Given the description of an element on the screen output the (x, y) to click on. 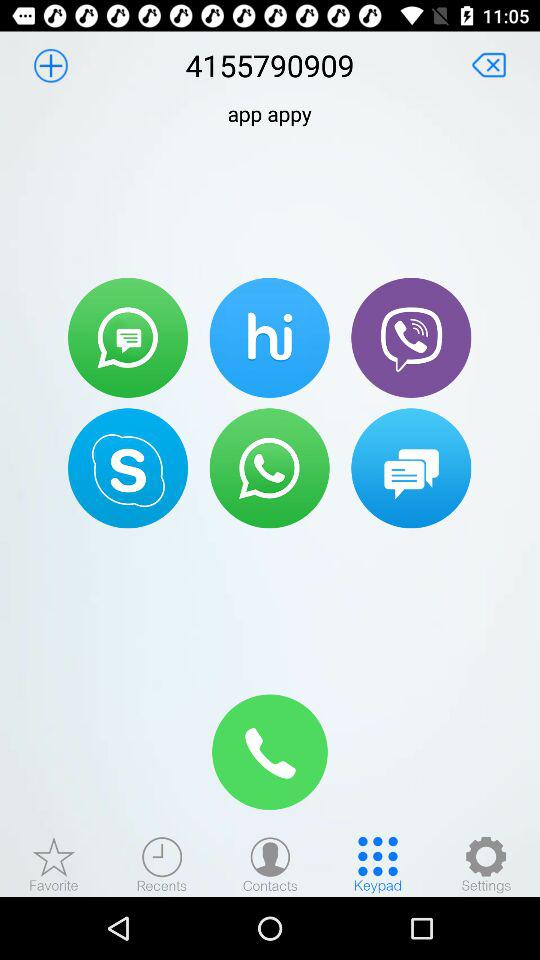
favourites (53, 864)
